Given the description of an element on the screen output the (x, y) to click on. 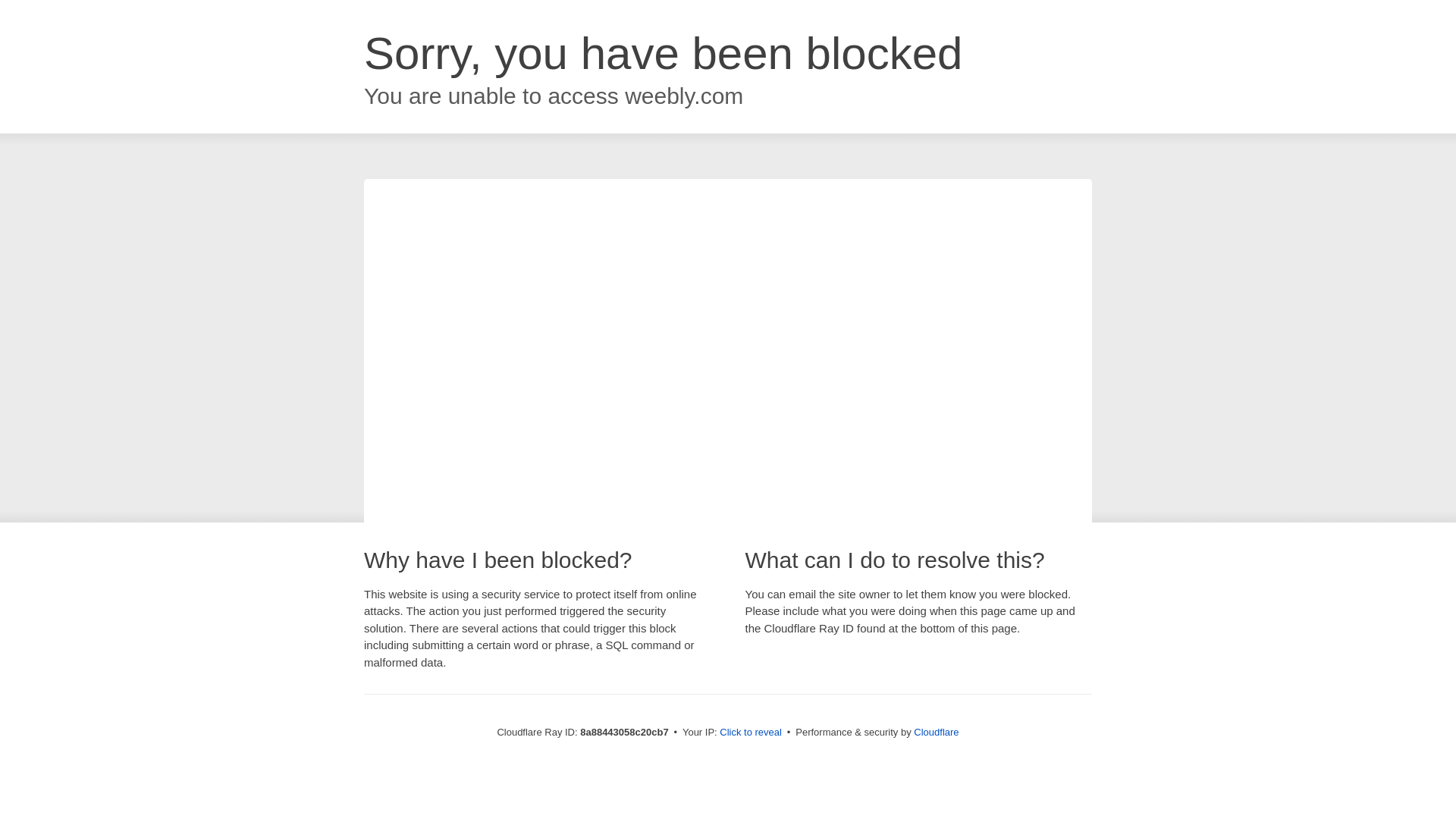
Cloudflare (936, 731)
Click to reveal (750, 732)
